Given the description of an element on the screen output the (x, y) to click on. 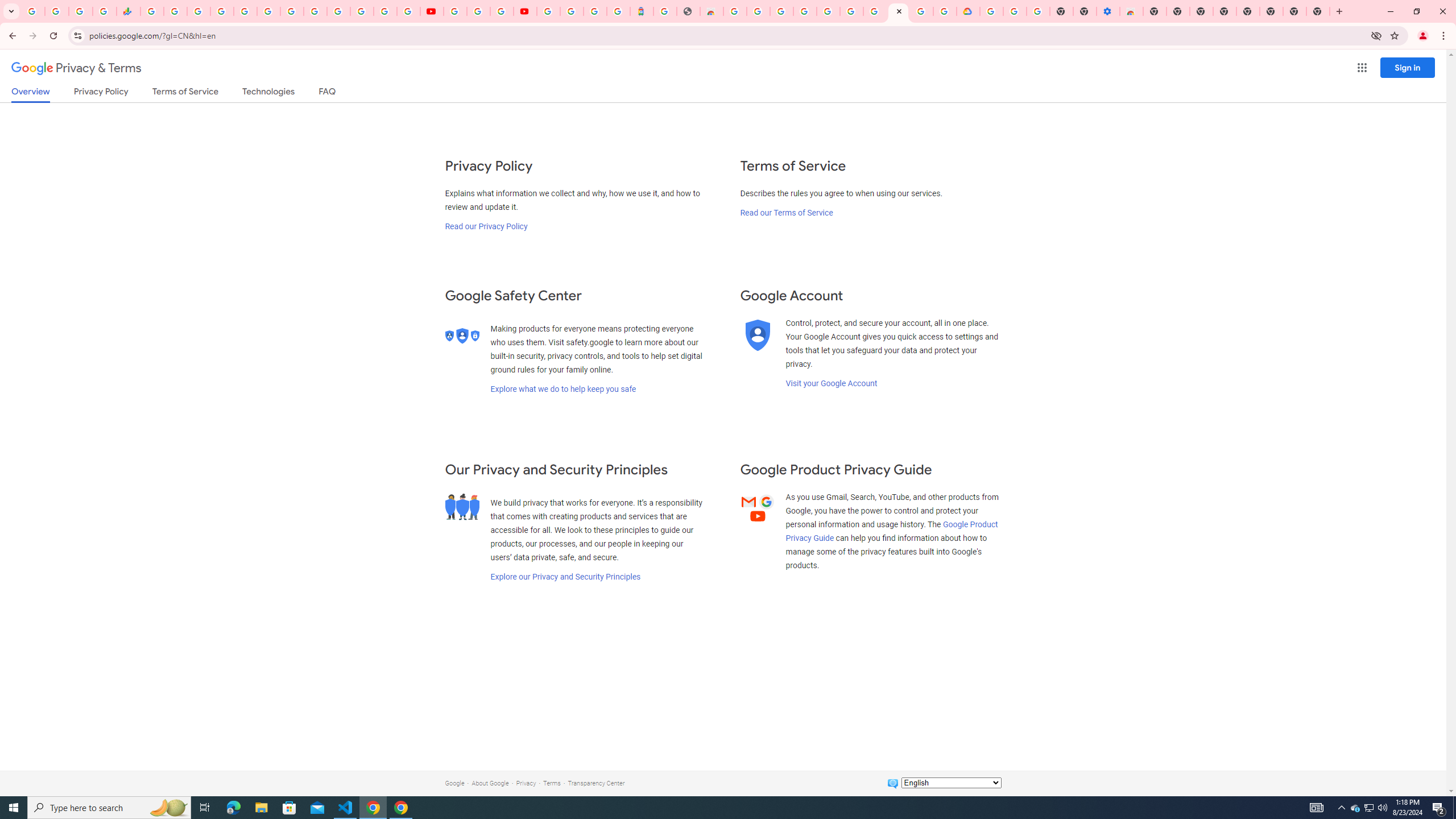
Read our Terms of Service (785, 212)
Google Account Help (478, 11)
Sign in - Google Accounts (547, 11)
Turn cookies on or off - Computer - Google Account Help (1038, 11)
Sign in - Google Accounts (571, 11)
Explore what we do to help keep you safe (563, 388)
Chrome Web Store - Household (711, 11)
